Given the description of an element on the screen output the (x, y) to click on. 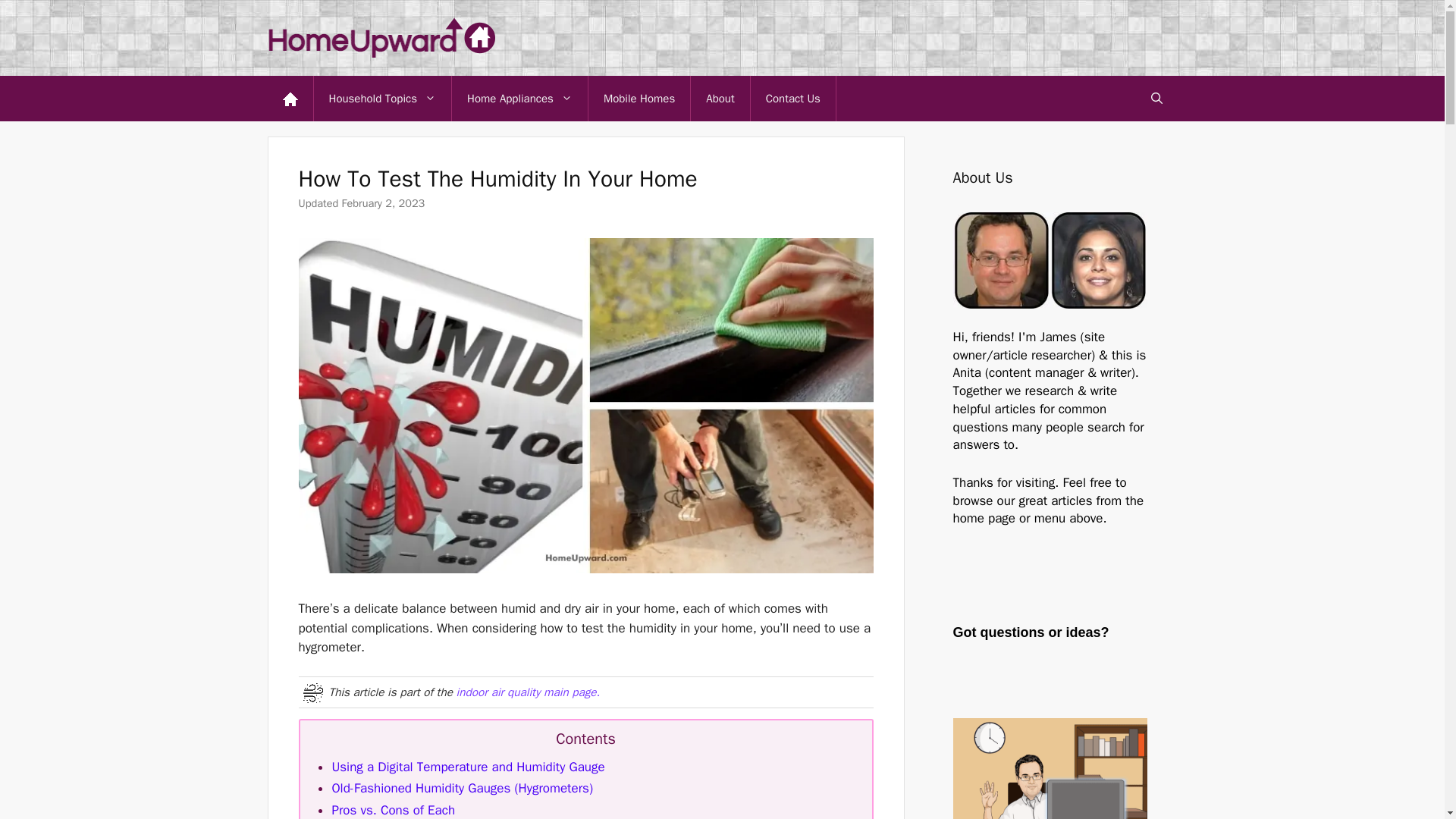
Home (289, 98)
Household Topics (383, 98)
